Given the description of an element on the screen output the (x, y) to click on. 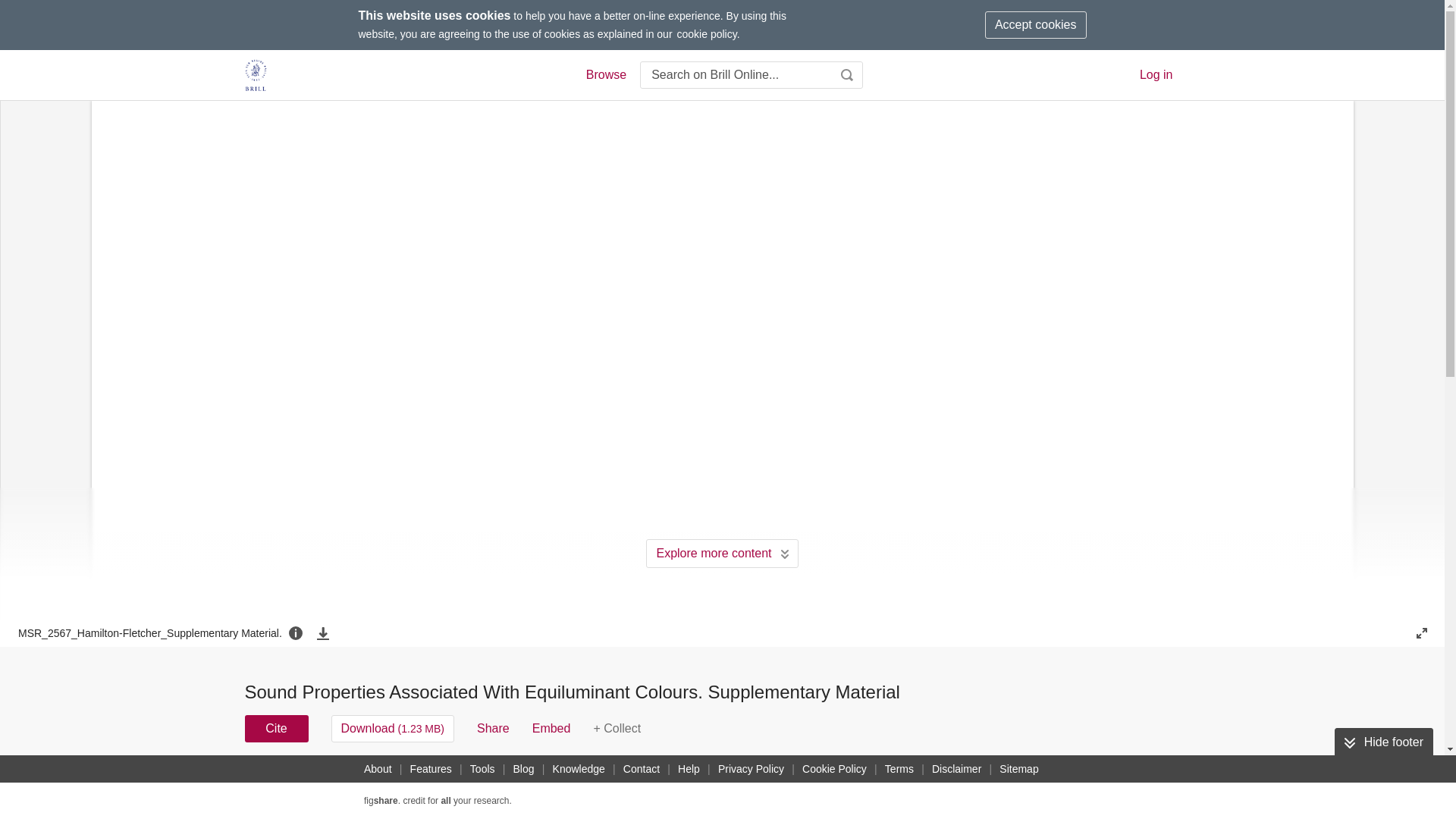
Explore more content (721, 553)
Log in (1156, 74)
Cite (275, 728)
Version 2 (273, 778)
you need to log in first (616, 728)
USAGE METRICS (976, 782)
cookie policy (706, 33)
Embed (551, 728)
Share (493, 728)
